Given the description of an element on the screen output the (x, y) to click on. 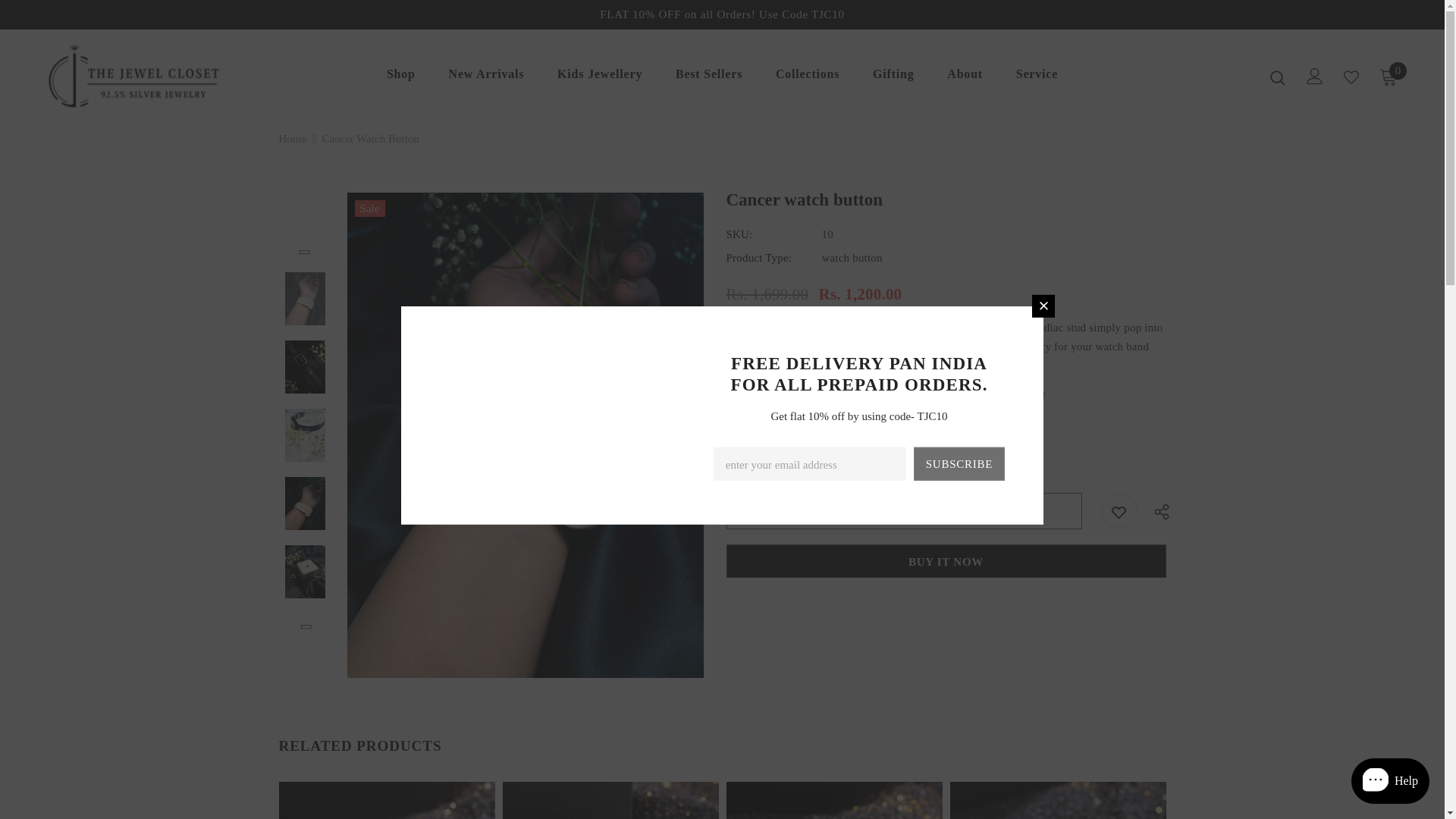
Add to cart (903, 511)
Search Icon (1277, 77)
Gifting (893, 77)
Service (1037, 77)
New Arrivals (486, 77)
Kids Jewellery (599, 77)
Subscribe (959, 463)
Logo (134, 76)
Best Sellers (708, 77)
Collections (808, 77)
